Given the description of an element on the screen output the (x, y) to click on. 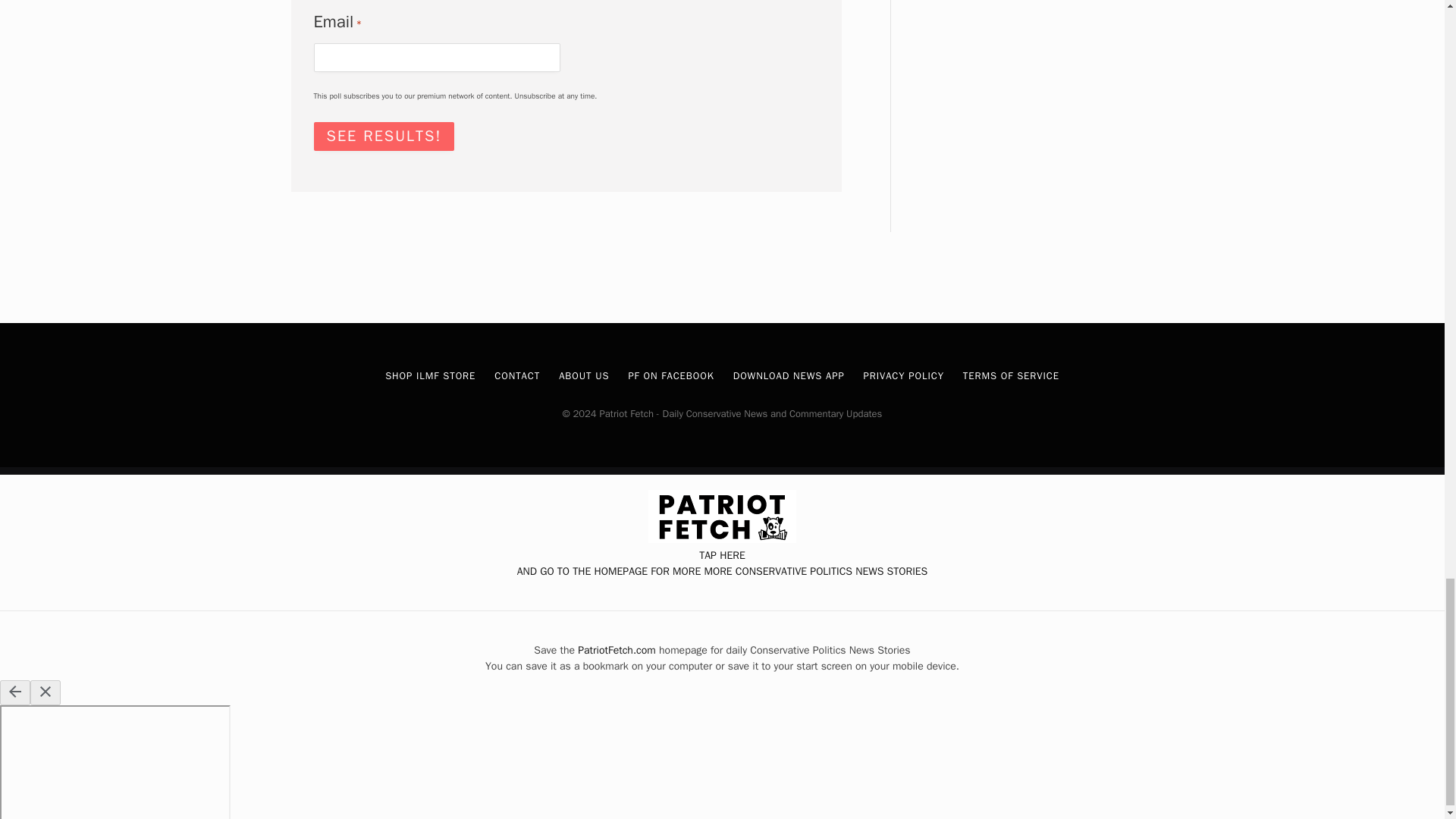
See Results! (384, 136)
See Results! (384, 136)
